Given the description of an element on the screen output the (x, y) to click on. 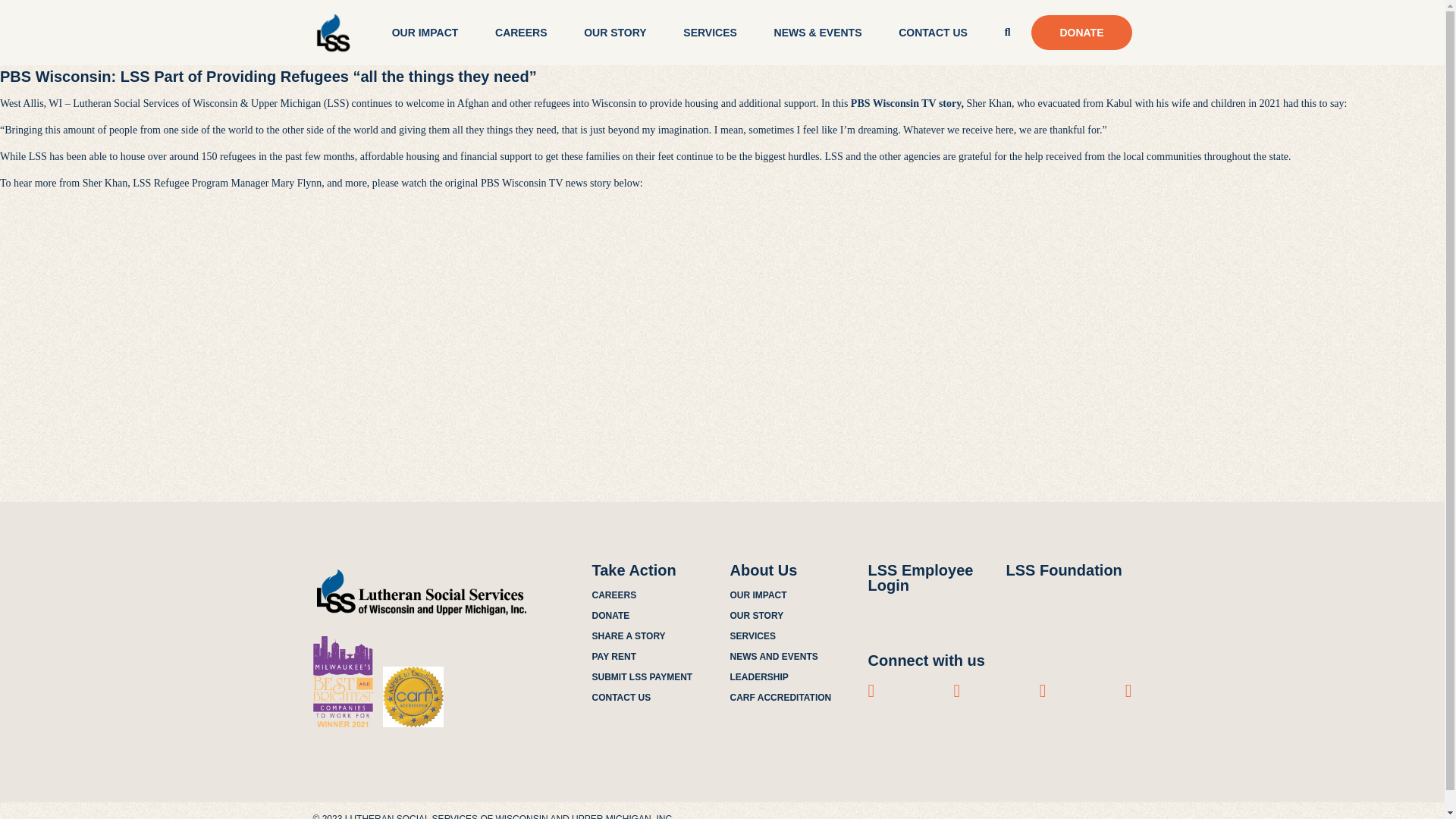
DONATE (1080, 32)
OUR IMPACT (424, 32)
CAREERS (521, 32)
SERVICES (709, 32)
OUR STORY (614, 32)
CONTACT US (933, 32)
